Given the description of an element on the screen output the (x, y) to click on. 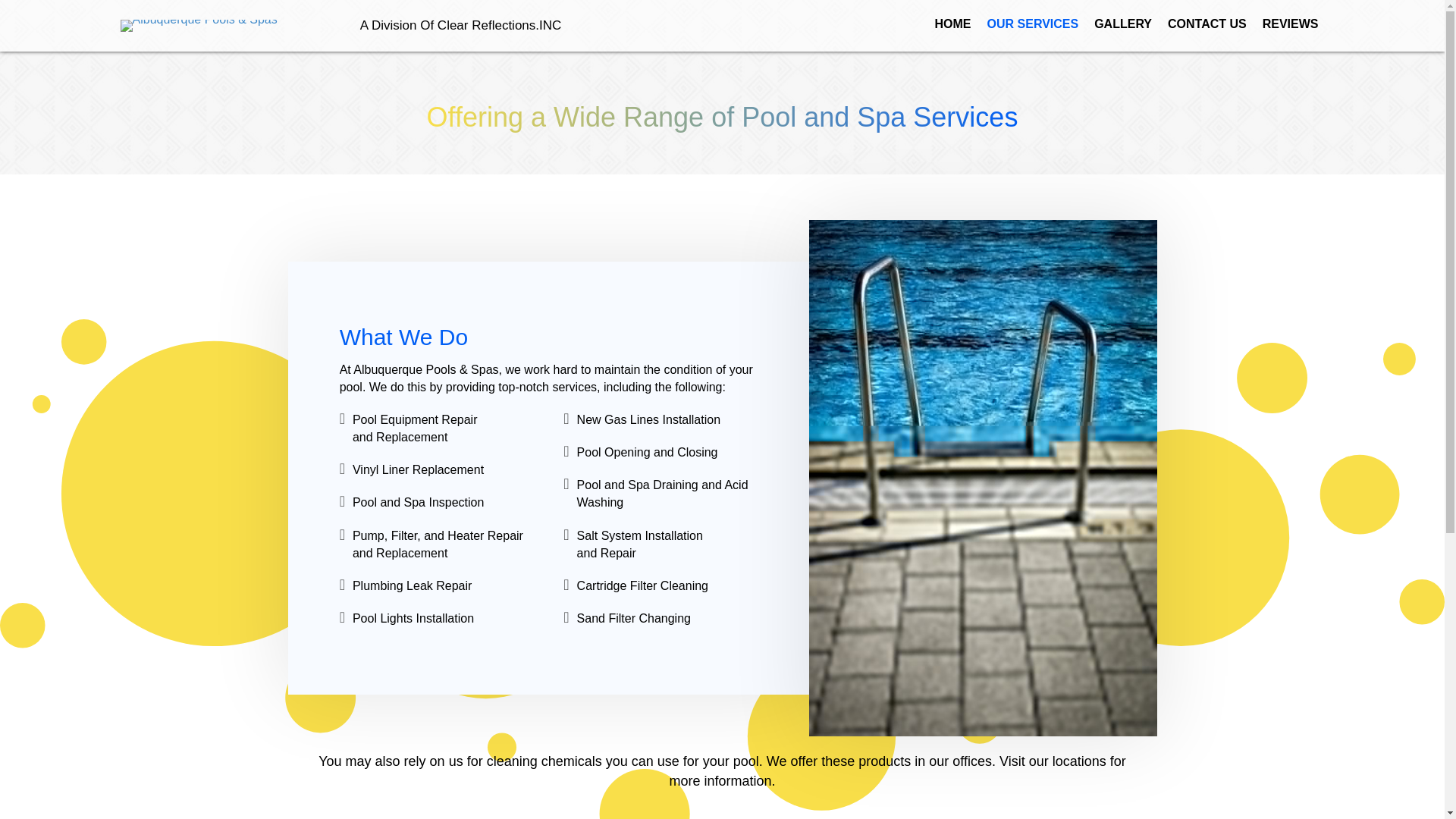
CONTACT US (1206, 24)
OUR SERVICES (1032, 24)
A Division Of Clear Reflections.INC (459, 25)
HOME (952, 24)
REVIEWS (1290, 24)
GALLERY (1122, 24)
A Division Of Clear Reflections.INC (459, 25)
